Given the description of an element on the screen output the (x, y) to click on. 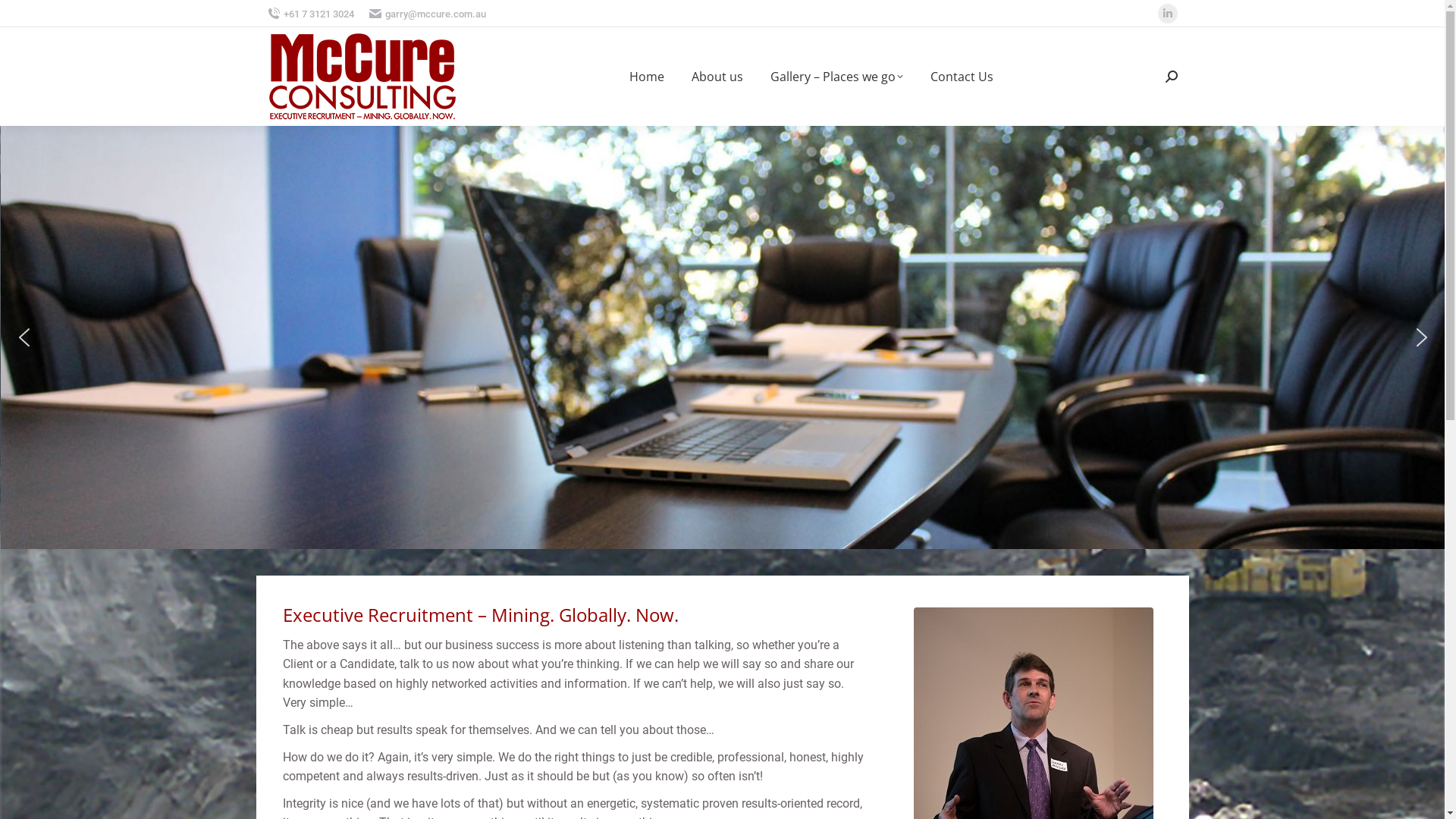
Linkedin page opens in new window Element type: text (1166, 13)
Home Element type: text (646, 76)
Contact Us Element type: text (960, 76)
About us Element type: text (717, 76)
Go! Element type: text (23, 16)
